Given the description of an element on the screen output the (x, y) to click on. 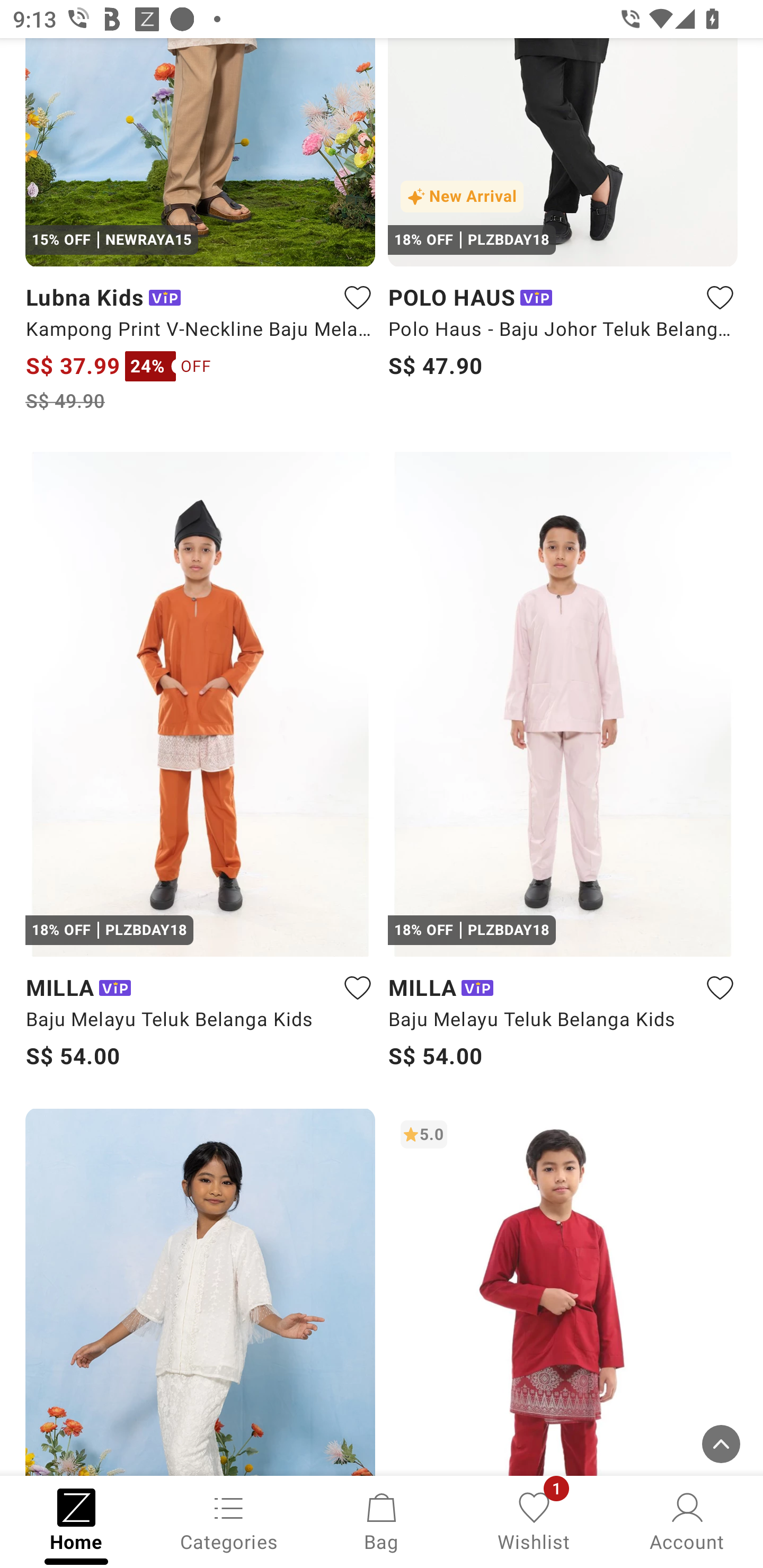
5.0 (562, 1291)
Categories (228, 1519)
Bag (381, 1519)
Wishlist, 1 new notification Wishlist (533, 1519)
Account (686, 1519)
